Given the description of an element on the screen output the (x, y) to click on. 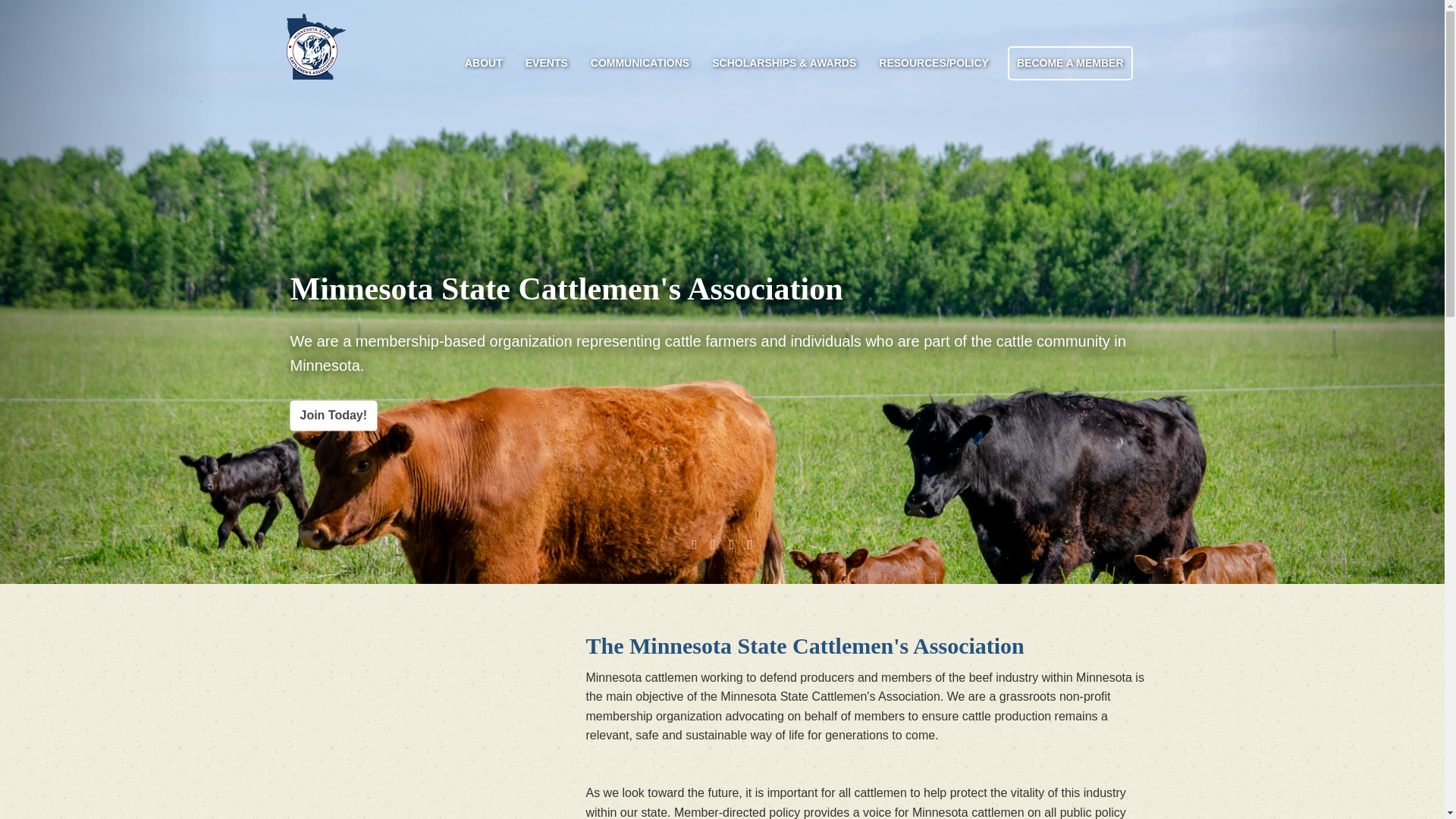
Toggle search (1147, 53)
EVENTS (546, 63)
BECOME A MEMBER (1069, 62)
COMMUNICATIONS (639, 63)
ABOUT (482, 63)
Join Today! (333, 416)
